Given the description of an element on the screen output the (x, y) to click on. 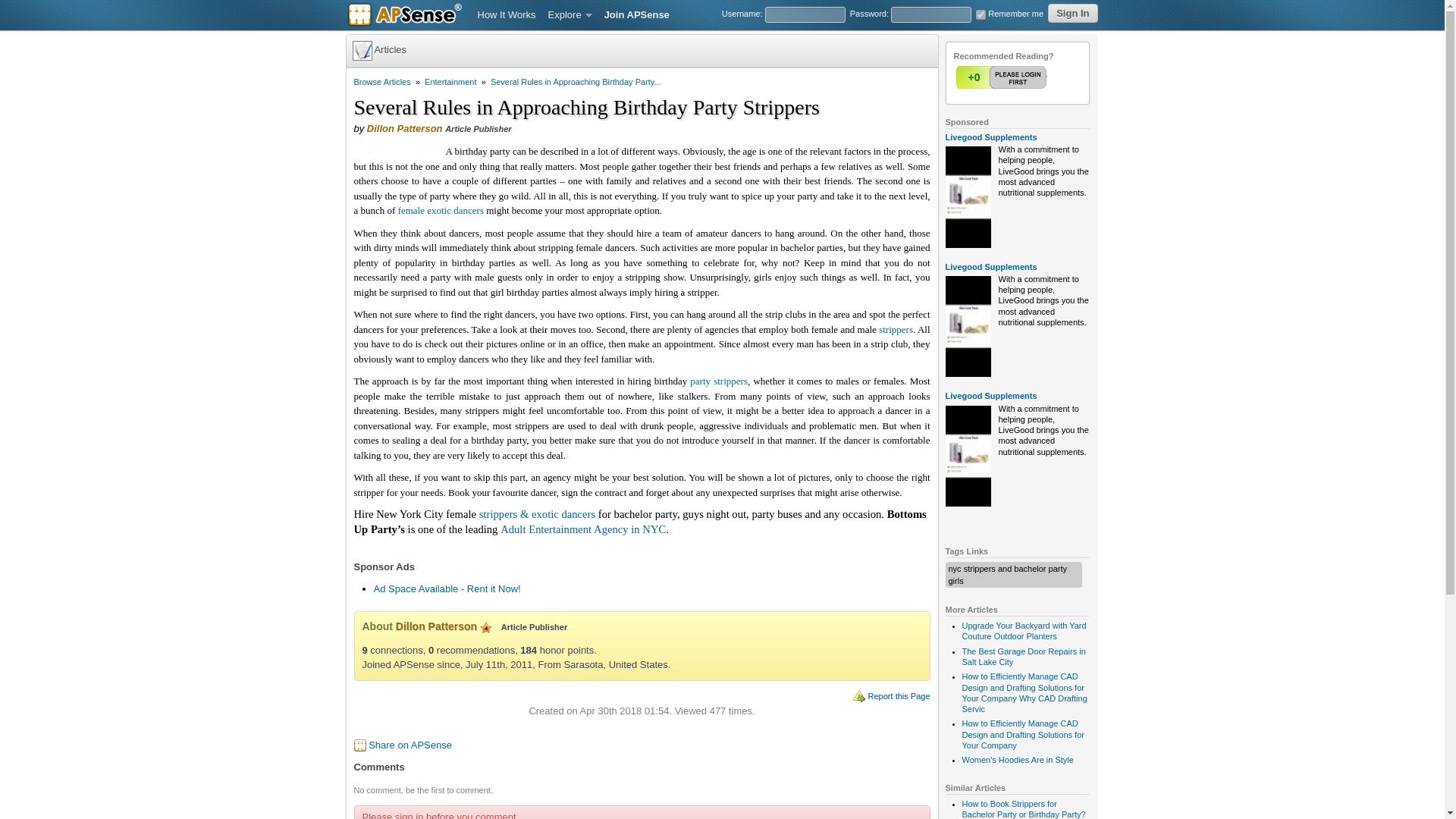
1 (1002, 77)
strippers (895, 328)
Share on APSense (409, 745)
Several Rules in Approaching Birthday Party... (575, 81)
Vote Up (1002, 77)
Votes Up (973, 77)
Advanced (486, 627)
Join APSense (636, 15)
Entertainment (450, 81)
party strippers (719, 380)
1 (980, 14)
Explore (569, 15)
Sign In (1072, 13)
-1 (1031, 77)
female exotic dancers (440, 210)
